Given the description of an element on the screen output the (x, y) to click on. 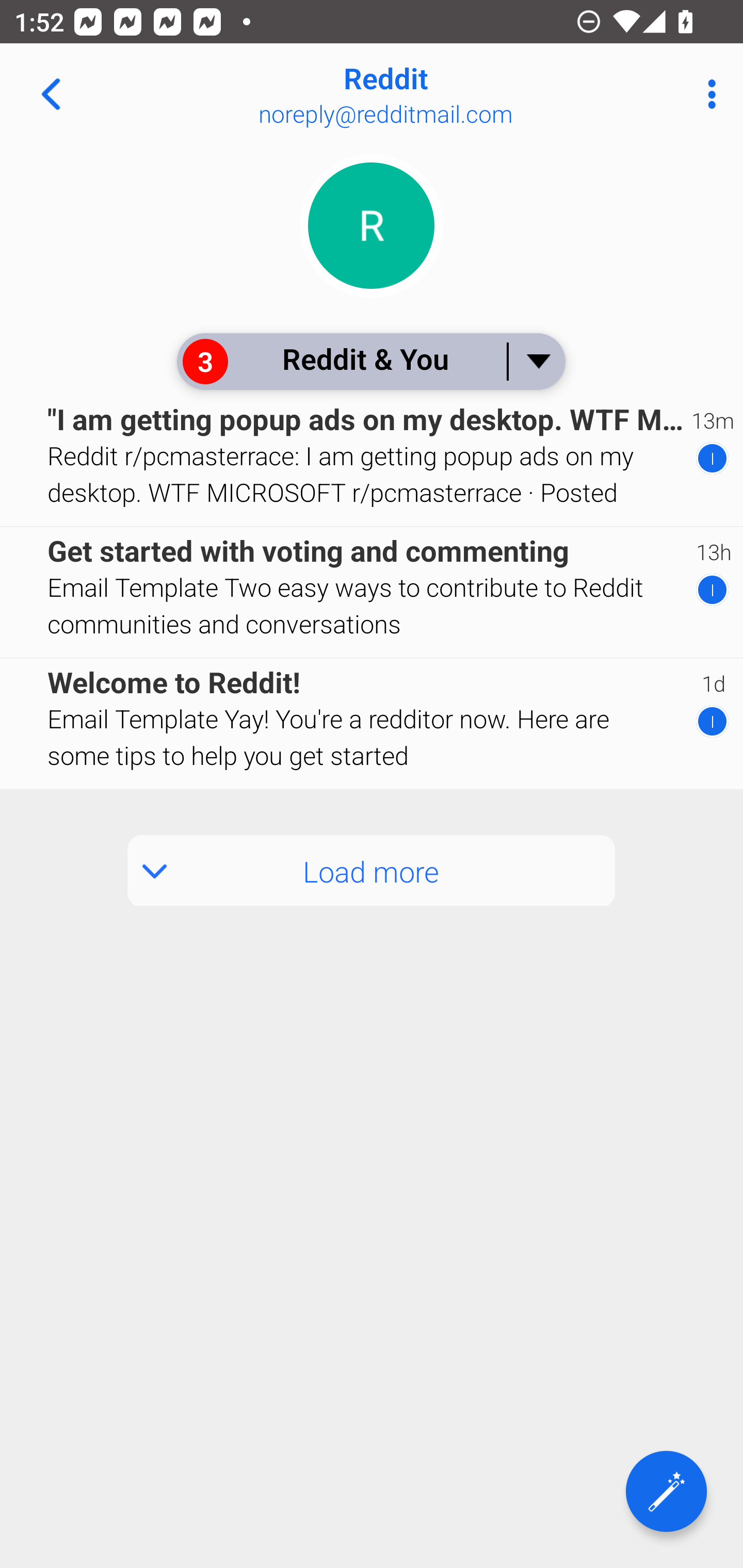
Navigate up (50, 93)
Reddit noreply@redditmail.com (436, 93)
More Options (706, 93)
3 Reddit & You (370, 361)
Load more (371, 870)
